Given the description of an element on the screen output the (x, y) to click on. 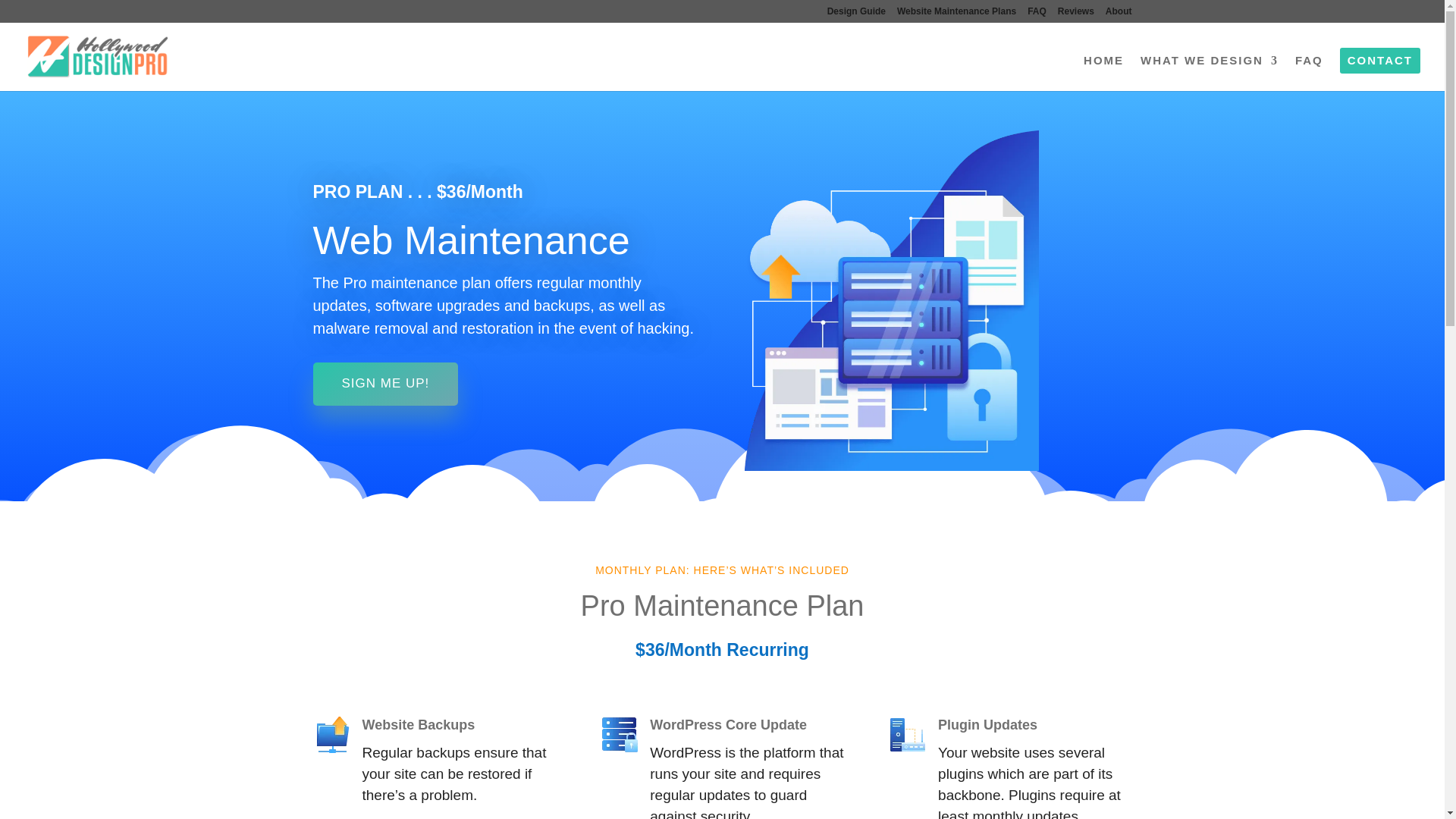
SIGN ME UP! (385, 383)
WHAT WE DESIGN (1209, 72)
Design Guide (856, 14)
CONTACT (1380, 60)
Reviews (1076, 14)
Website Maintenance Plans (956, 14)
FAQ (1036, 14)
About (1118, 14)
HOME (1103, 72)
